Given the description of an element on the screen output the (x, y) to click on. 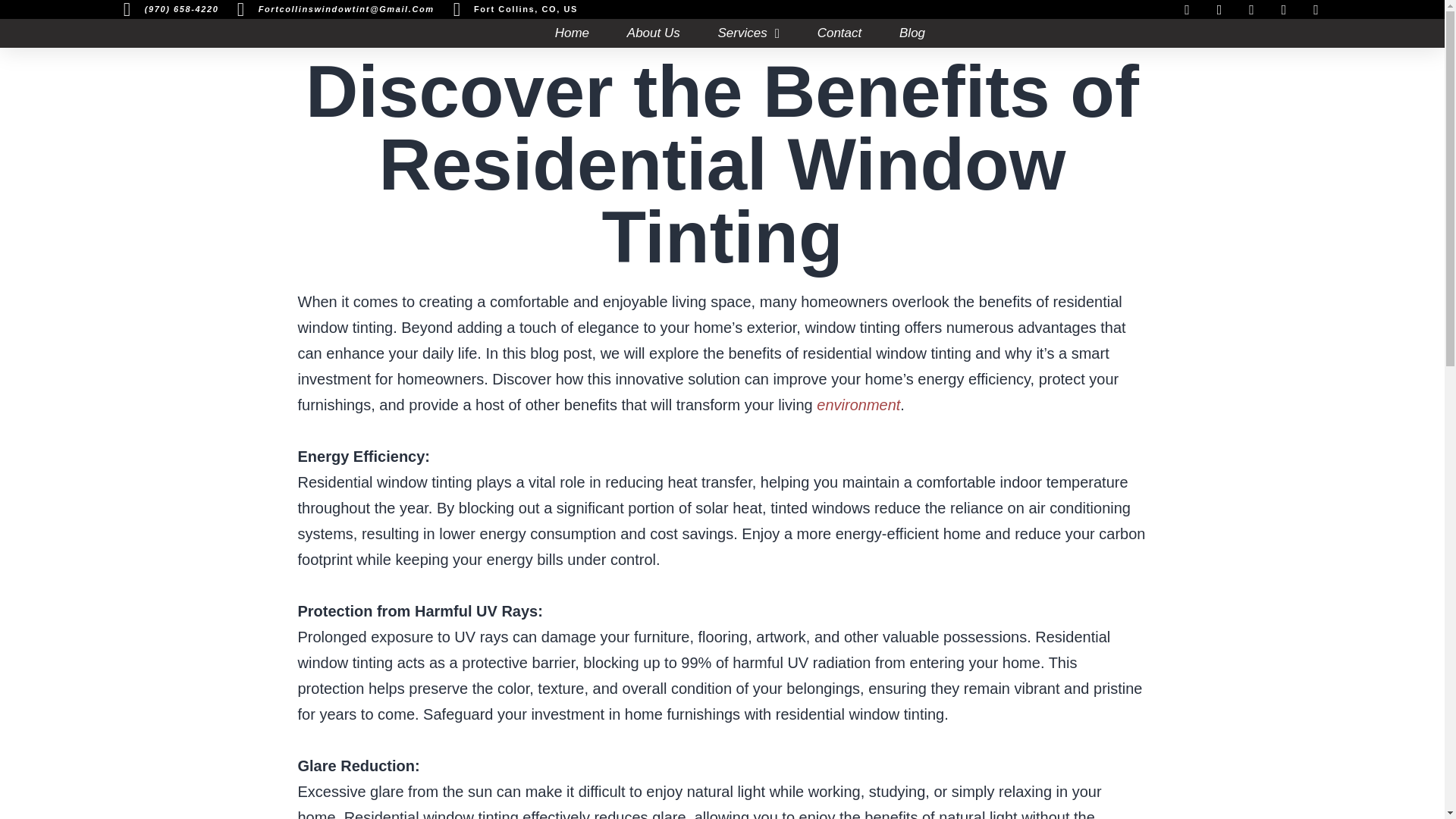
Contact (838, 32)
Services (747, 32)
About Us (653, 32)
Home (571, 32)
Blog (911, 32)
